Given the description of an element on the screen output the (x, y) to click on. 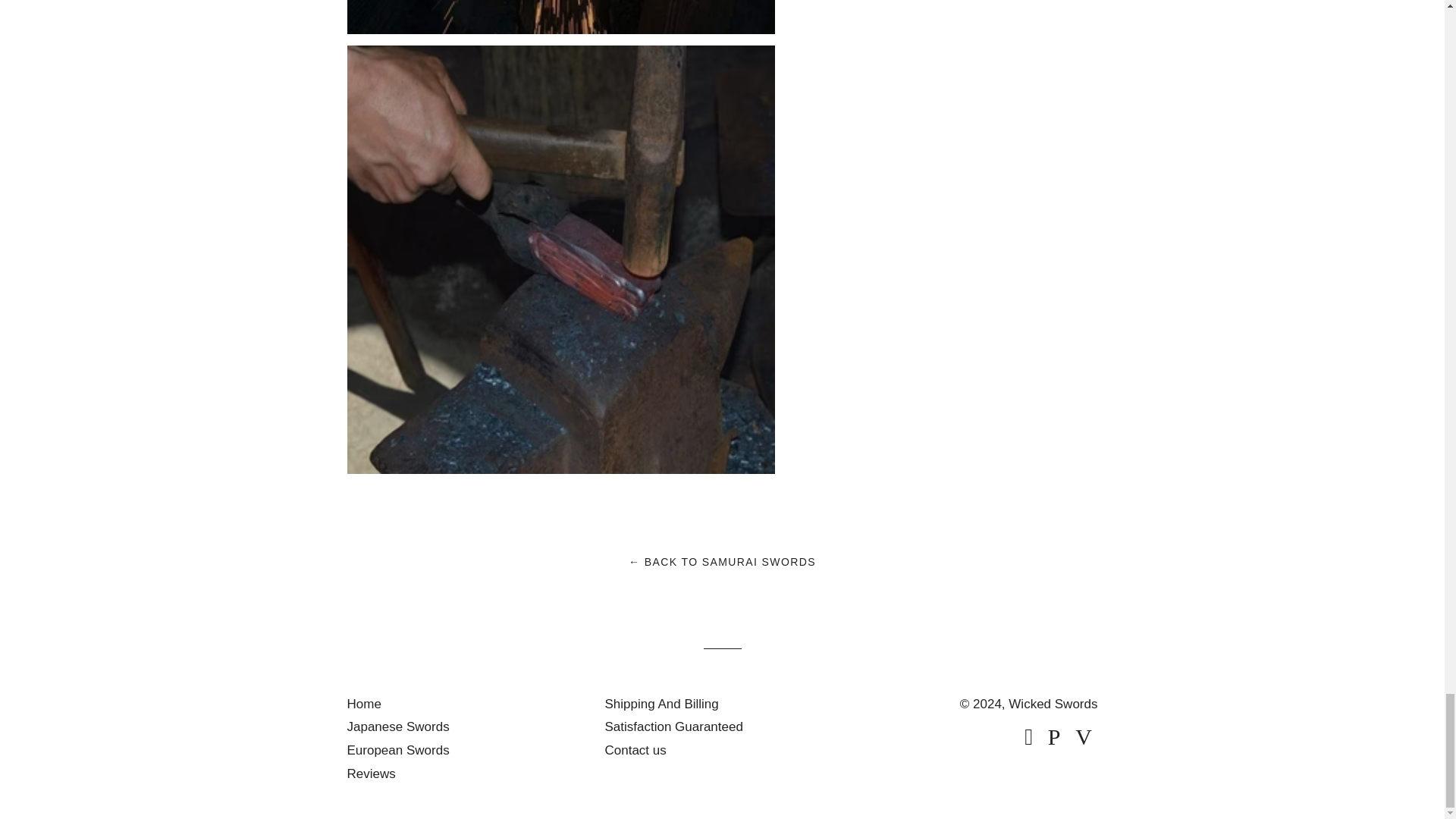
Satisfaction Guaranteed (673, 726)
European Swords (398, 749)
Home (364, 703)
Wicked Swords (1053, 703)
Shipping And Billing (660, 703)
Japanese Swords (398, 726)
Contact us (634, 749)
Reviews (371, 773)
